Given the description of an element on the screen output the (x, y) to click on. 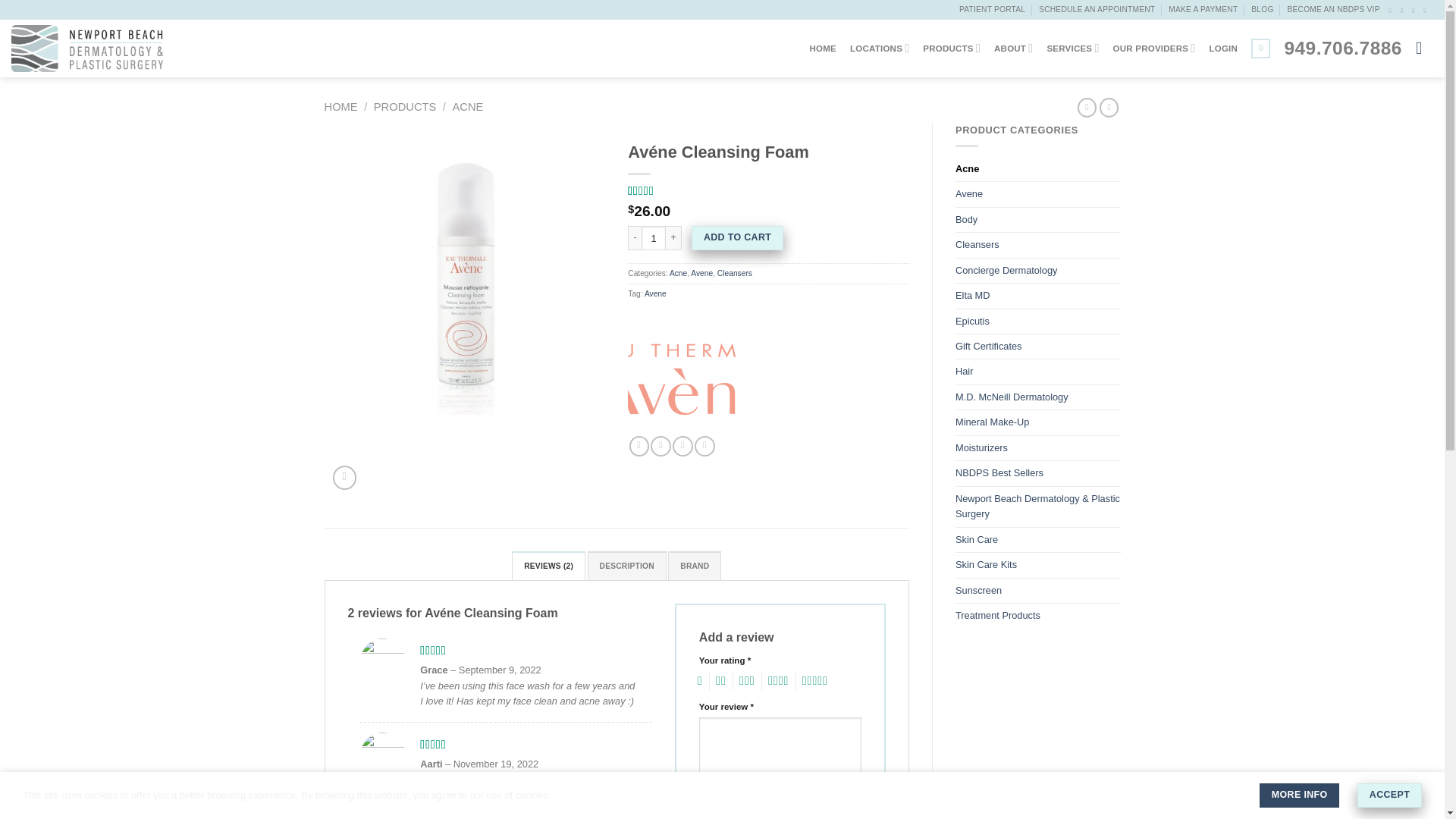
Newport Beach Dermatology - and Plastic Surgery (87, 48)
Avene (684, 378)
Login (1222, 48)
BLOG (1261, 9)
Share on Facebook (638, 445)
Follow on YouTube (1427, 9)
Send us an email (1415, 9)
SCHEDULE AN APPOINTMENT (1096, 9)
LOCATIONS (879, 48)
1 (653, 238)
Zoom (344, 477)
PRODUCTS (951, 48)
BECOME AN NBDPS VIP (1332, 9)
HOME (822, 48)
Follow on Facebook (1392, 9)
